Given the description of an element on the screen output the (x, y) to click on. 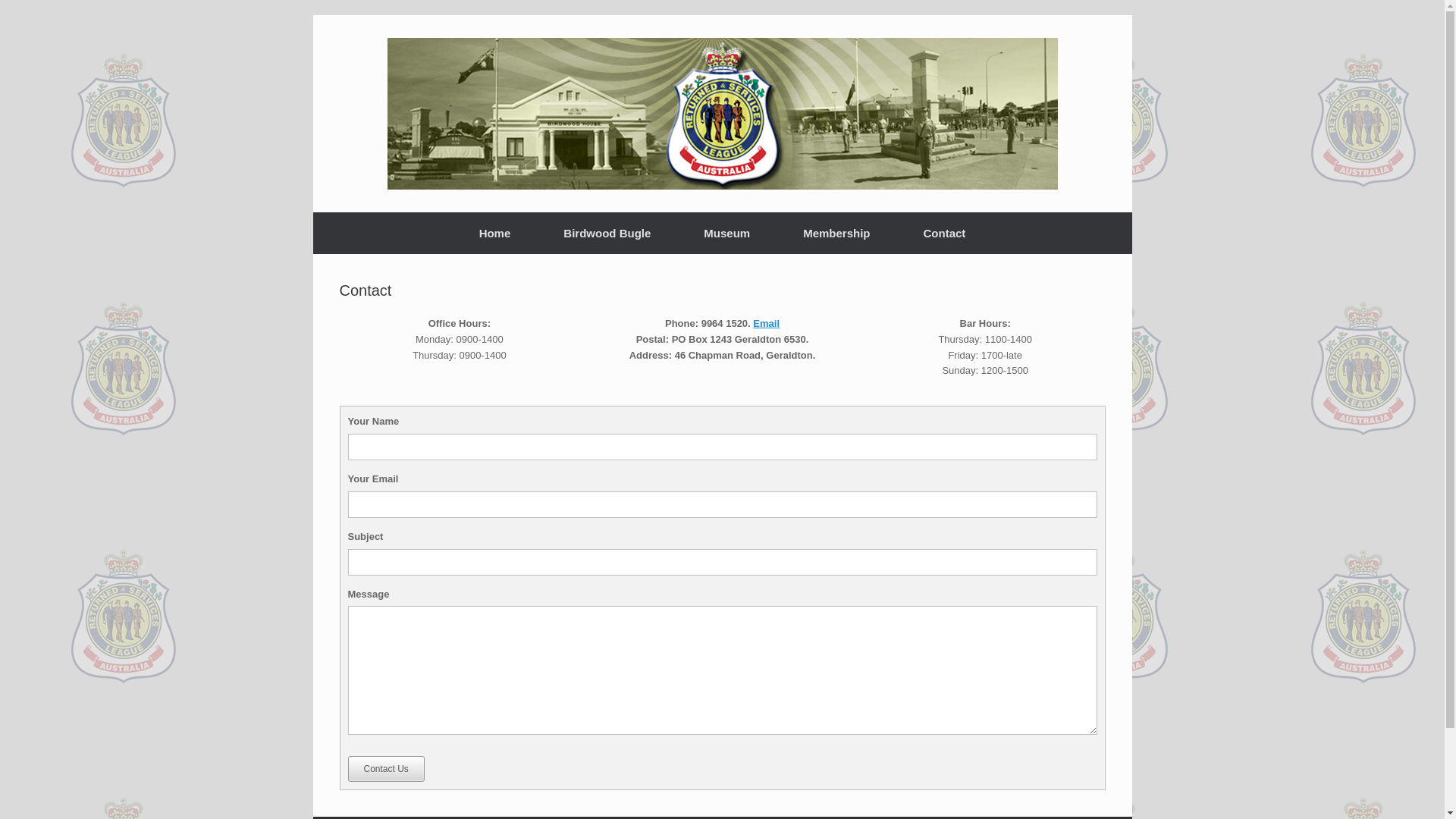
Geraldton City RSL Sub-Branch Element type: hover (722, 113)
Contact Us Element type: text (385, 768)
Membership Element type: text (836, 233)
Contact Element type: text (944, 233)
Museum Element type: text (726, 233)
Home Element type: text (494, 233)
Skip to content Element type: text (312, 14)
Email Element type: text (766, 323)
Birdwood Bugle Element type: text (606, 233)
